Given the description of an element on the screen output the (x, y) to click on. 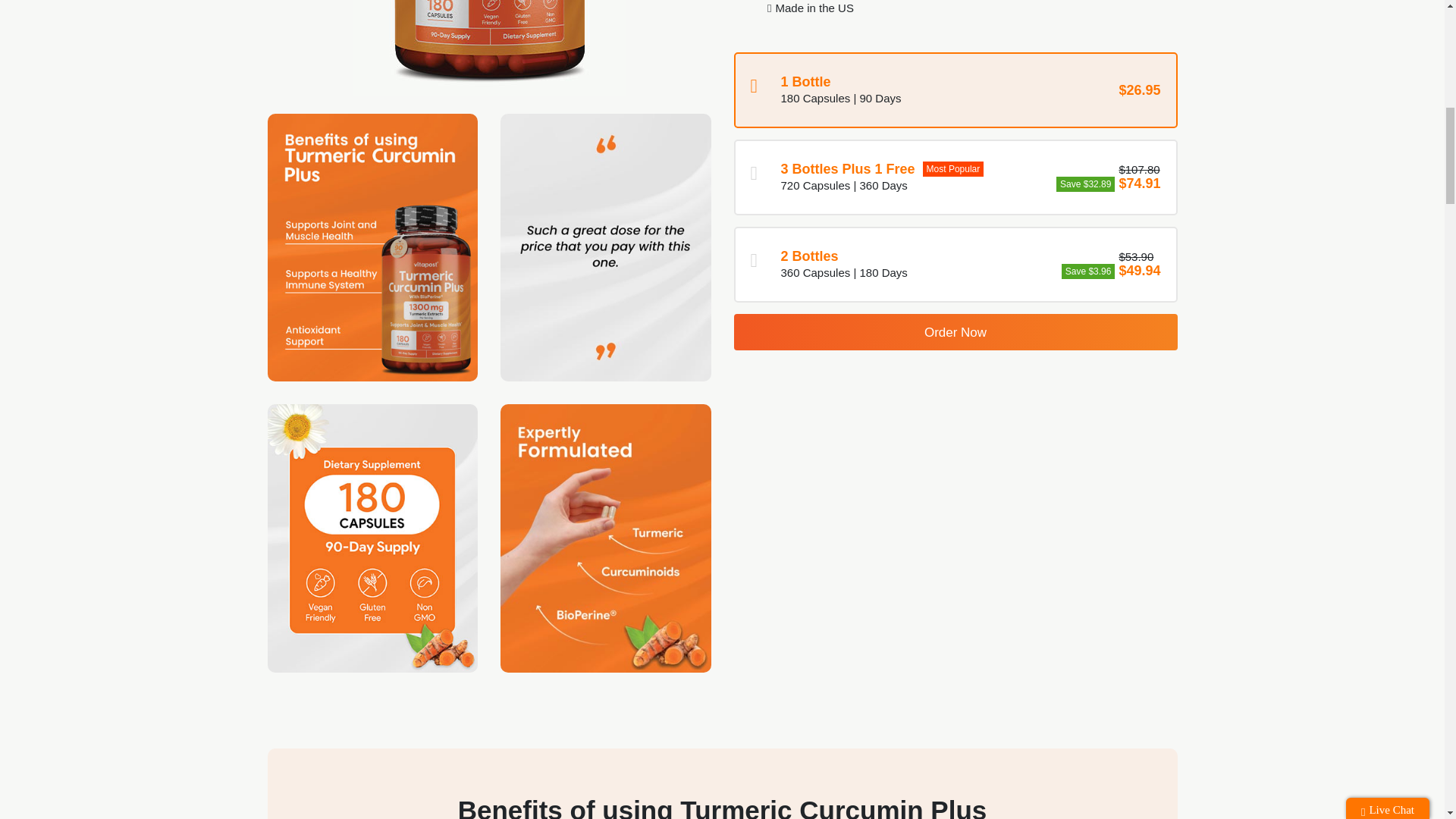
Order Now (955, 331)
